Given the description of an element on the screen output the (x, y) to click on. 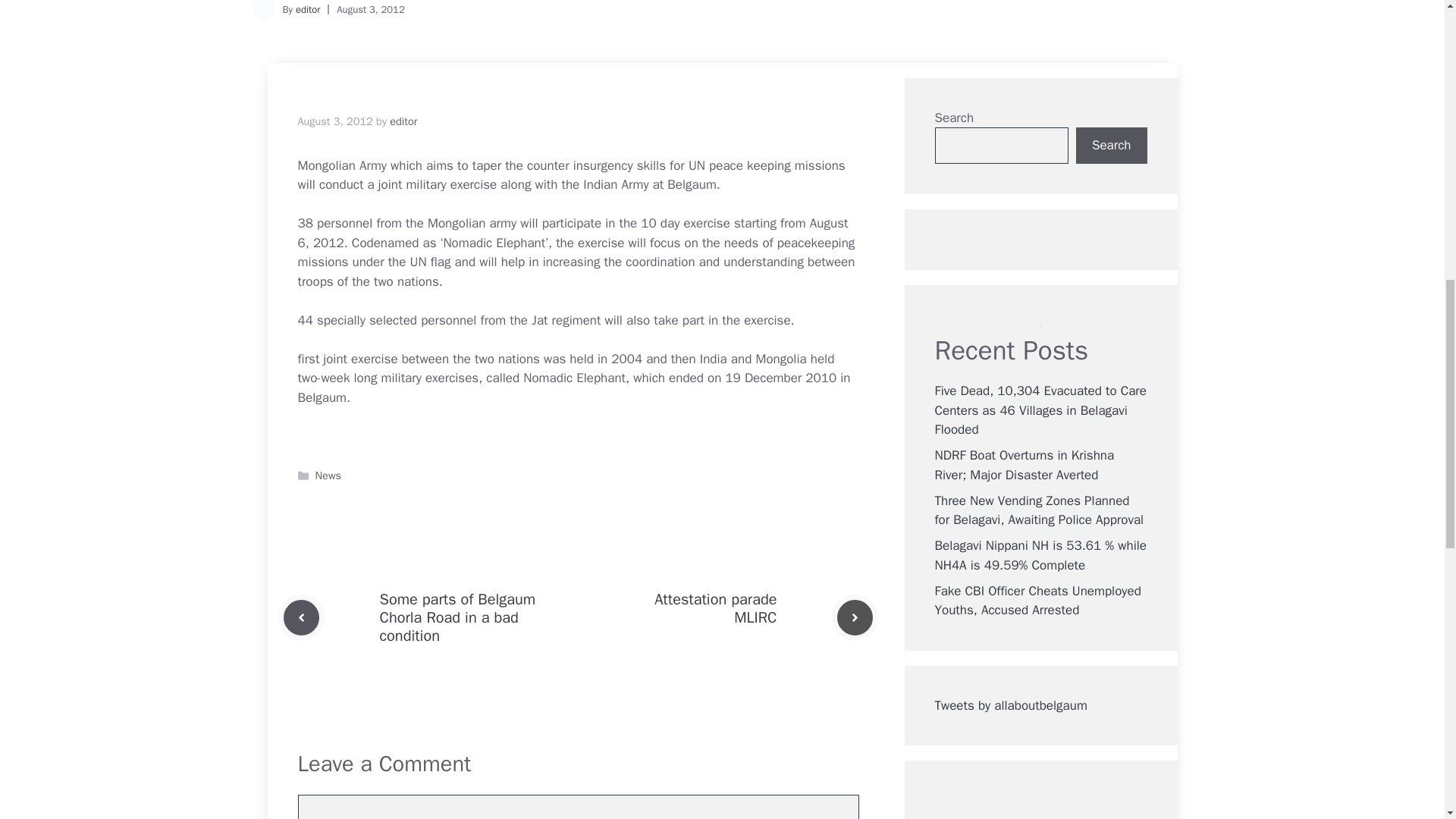
News (327, 475)
Tweets by allaboutbelgaum (1010, 705)
editor (403, 120)
editor (307, 9)
View all posts by editor (403, 120)
Search (1111, 145)
Fake CBI Officer Cheats Unemployed Youths, Accused Arrested (1037, 601)
Attestation parade MLIRC (714, 608)
Some parts of Belgaum Chorla Road in a bad condition (456, 617)
NDRF Boat Overturns in Krishna River; Major Disaster Averted (1023, 465)
